Given the description of an element on the screen output the (x, y) to click on. 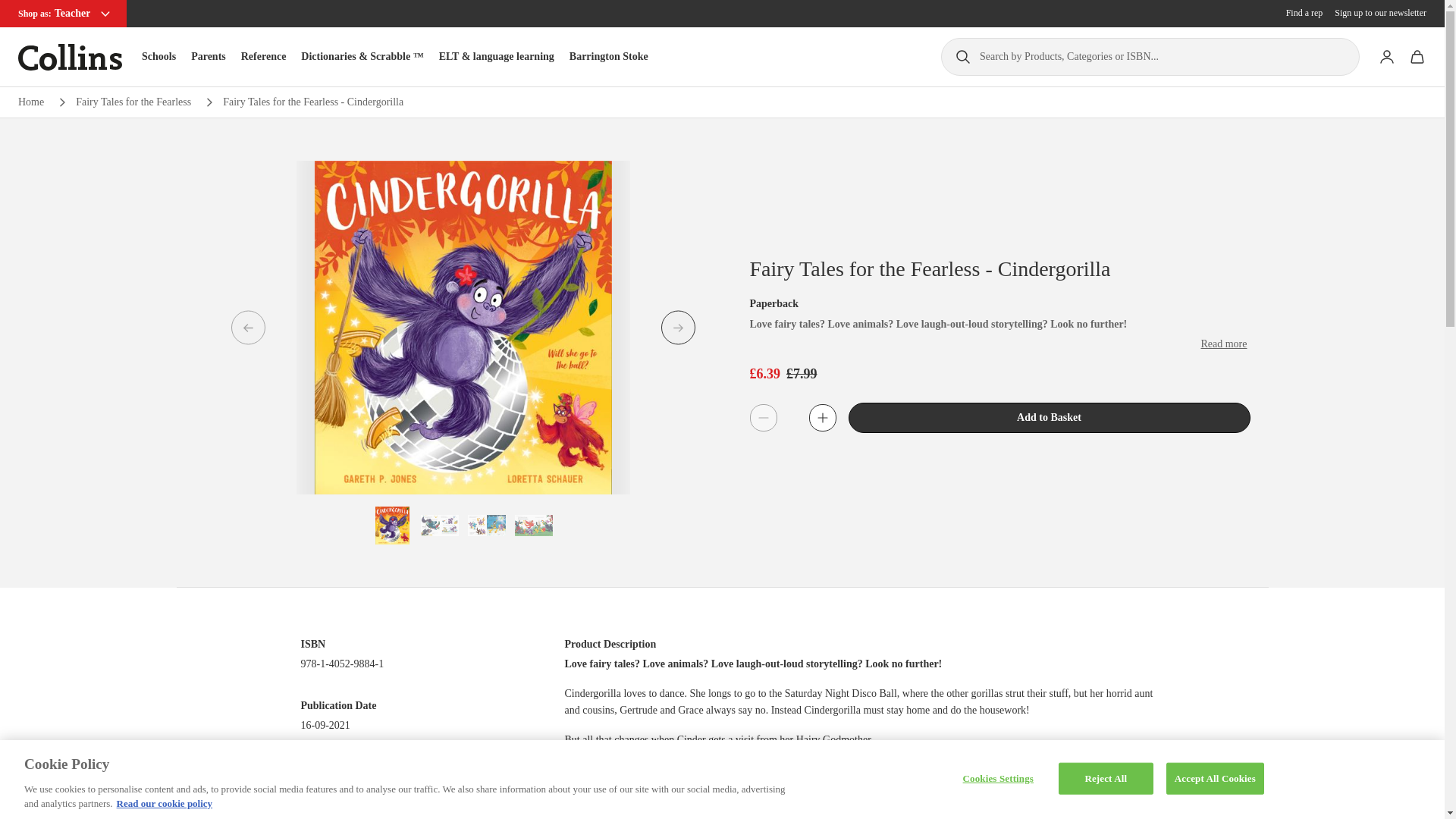
Collins (69, 57)
Fairy Tales for the Fearless - Cindergorilla (312, 102)
Read all about Fairy Tales for the Fearless (132, 102)
Account (1386, 56)
Parents (208, 56)
Previous slide (247, 327)
Read more (1222, 343)
Add to Basket (1048, 417)
Next slide (678, 327)
Fairy Tales for the Fearless (132, 102)
Sign up to our newsletter (1380, 12)
Toggle cart (1417, 56)
Home (30, 102)
